Given the description of an element on the screen output the (x, y) to click on. 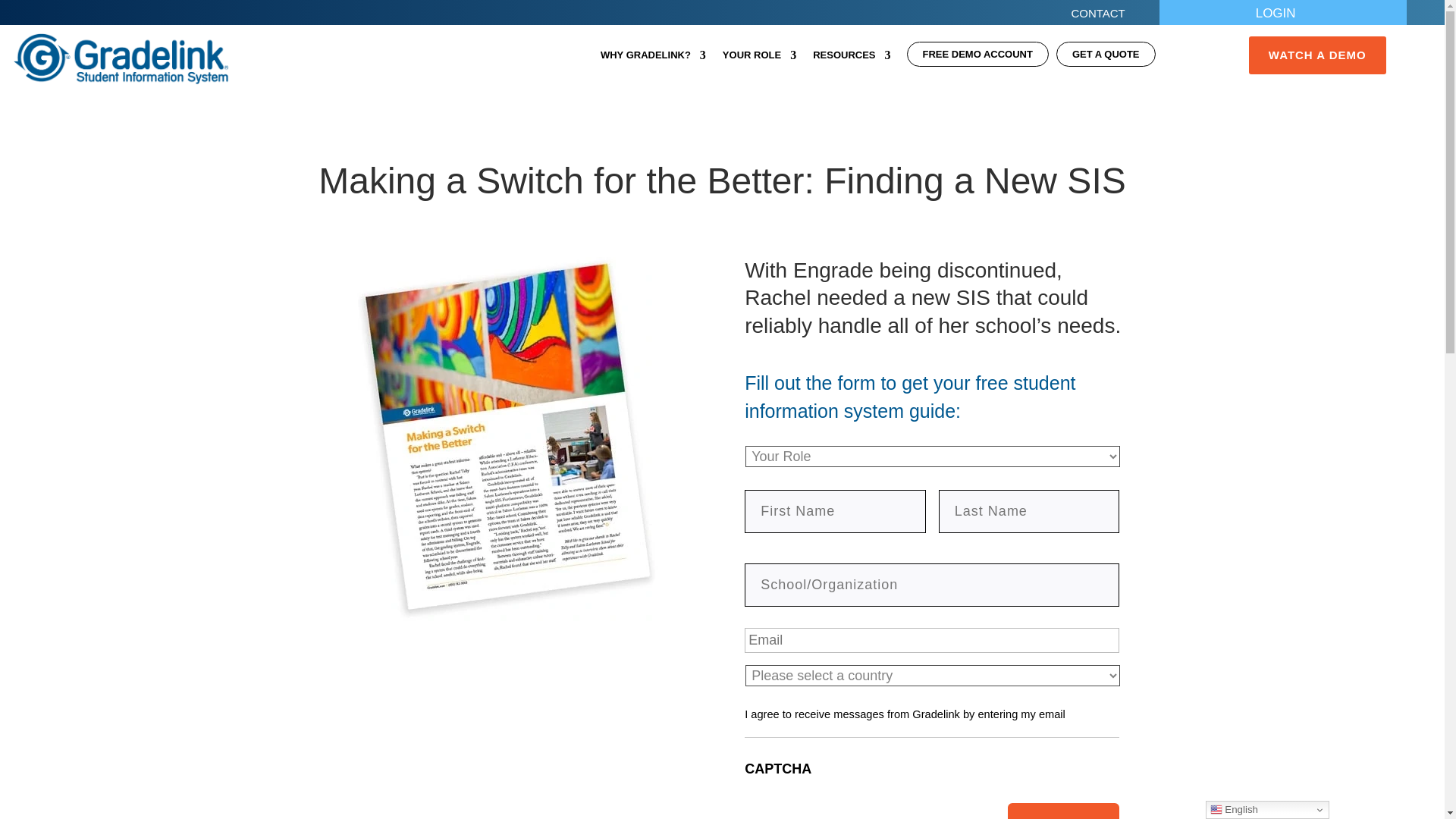
Submit (1063, 811)
RESOURCES (850, 57)
GET A QUOTE (1105, 57)
FREE DEMO ACCOUNT (977, 57)
LOGIN (1283, 16)
CONTACT (1105, 16)
YOUR ROLE (759, 57)
WHY GRADELINK? (652, 57)
